Given the description of an element on the screen output the (x, y) to click on. 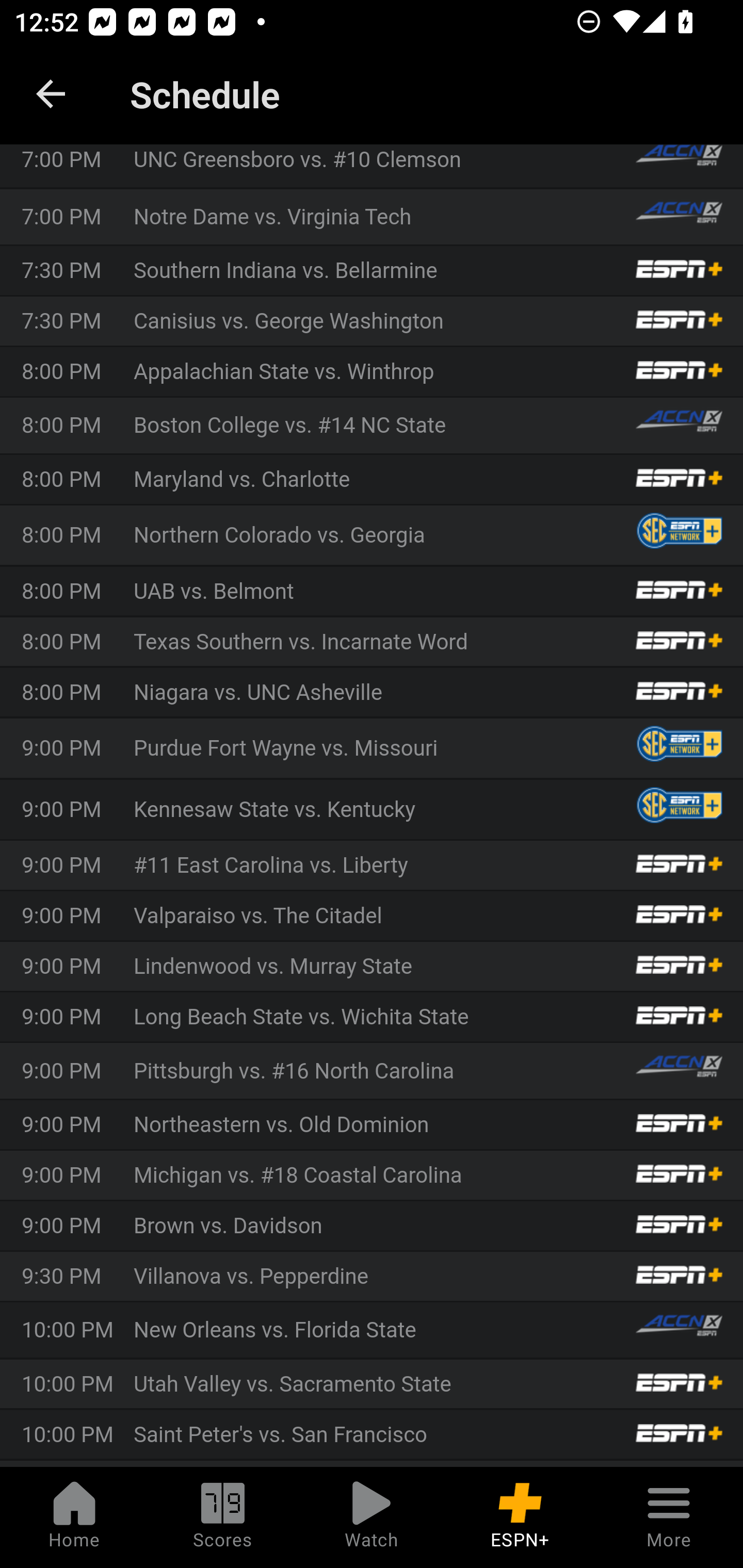
back.button (50, 93)
Home (74, 1517)
Scores (222, 1517)
Watch (371, 1517)
More (668, 1517)
